Given the description of an element on the screen output the (x, y) to click on. 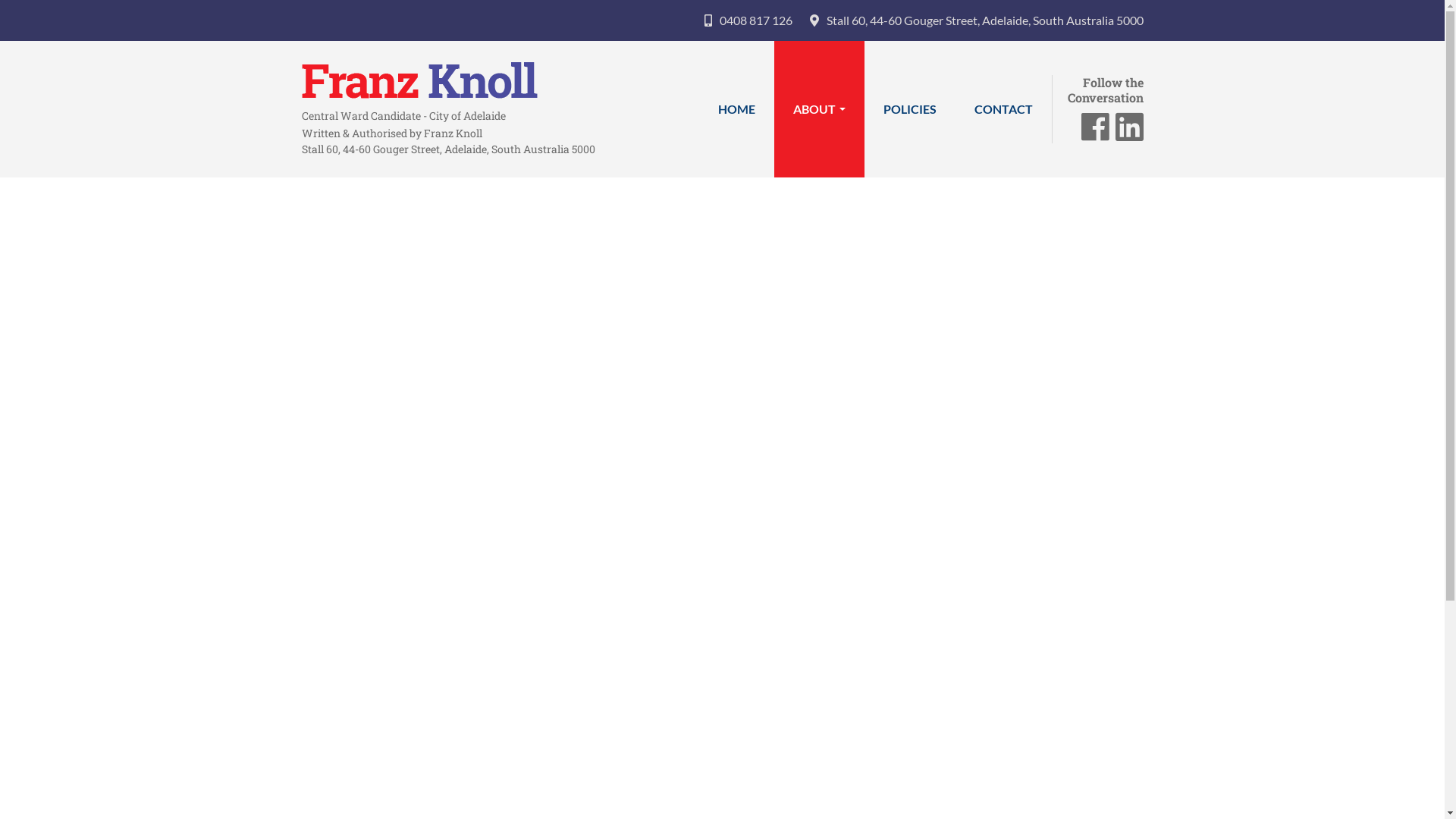
About Element type: text (318, 226)
CONTACT Element type: text (1003, 108)
Follow Franz on Linkedin Element type: hover (1128, 133)
Follow Franz on Facebook	 Element type: hover (1095, 133)
POLICIES Element type: text (909, 108)
HOME Element type: text (736, 108)
ABOUT Element type: text (818, 108)
1.3 MB Element type: text (829, 661)
